Given the description of an element on the screen output the (x, y) to click on. 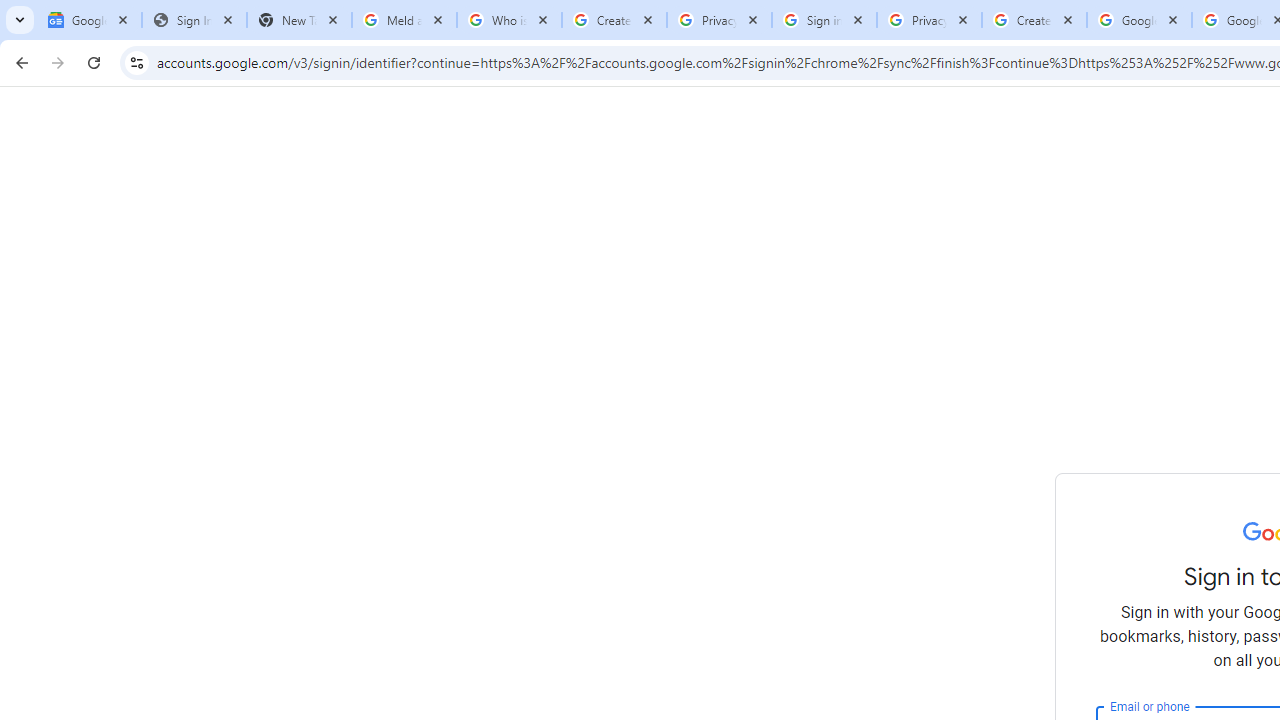
Who is my administrator? - Google Account Help (509, 20)
Google News (89, 20)
Create your Google Account (613, 20)
Create your Google Account (1033, 20)
Sign in - Google Accounts (823, 20)
New Tab (299, 20)
